Given the description of an element on the screen output the (x, y) to click on. 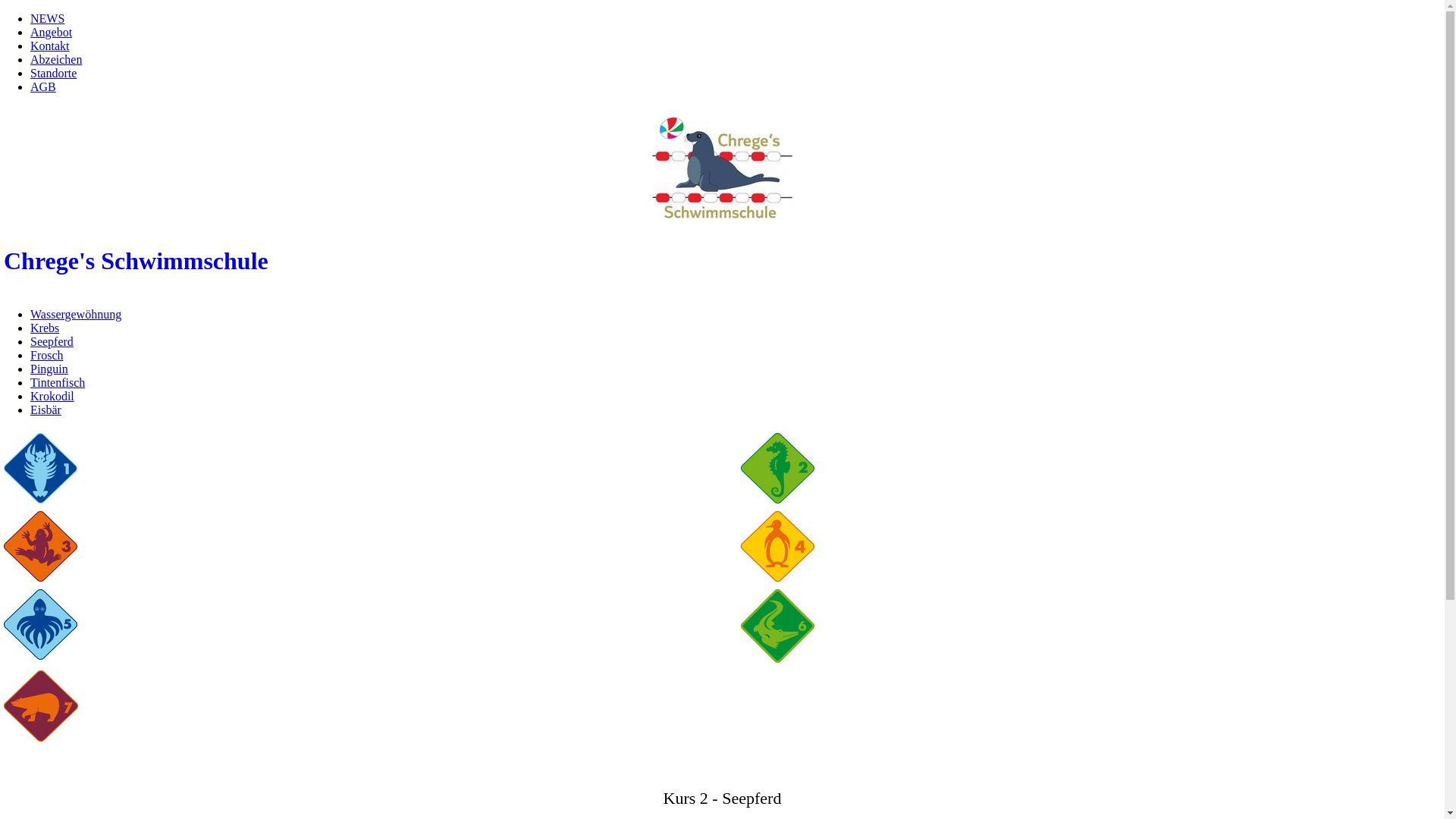
NEWS Element type: text (47, 18)
Pinguin Element type: text (49, 368)
Krebs Element type: text (44, 327)
Seepferd Element type: text (51, 341)
Frosch Element type: text (46, 354)
Abzeichen Element type: text (55, 59)
Angebot Element type: text (51, 31)
AGB Element type: text (43, 86)
Standorte Element type: text (53, 72)
Krokodil Element type: text (52, 395)
Kontakt Element type: text (49, 45)
Tintenfisch Element type: text (57, 382)
Chrege's Schwimmschule Element type: text (721, 261)
